Given the description of an element on the screen output the (x, y) to click on. 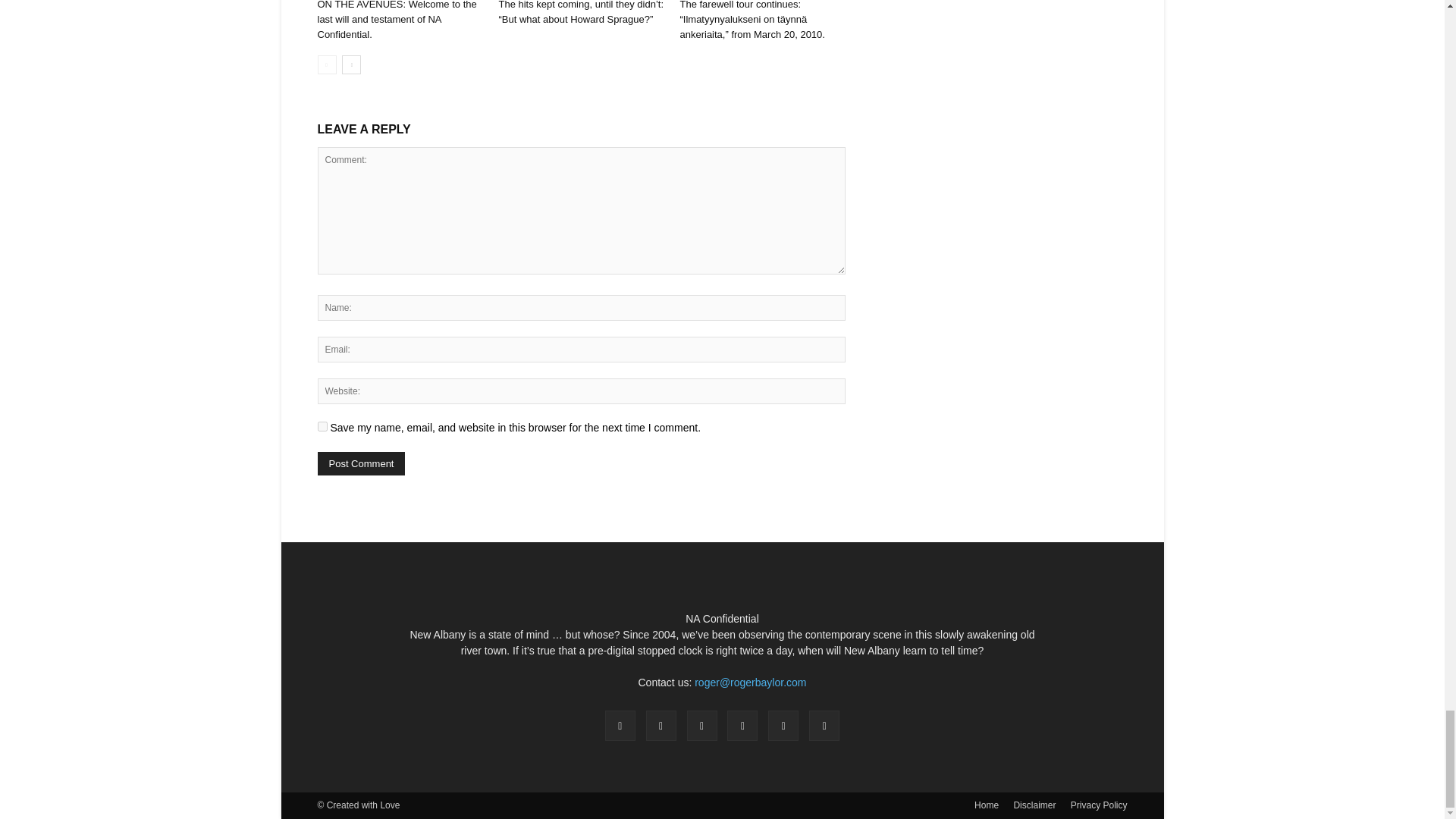
yes (321, 426)
Post Comment (360, 463)
